Given the description of an element on the screen output the (x, y) to click on. 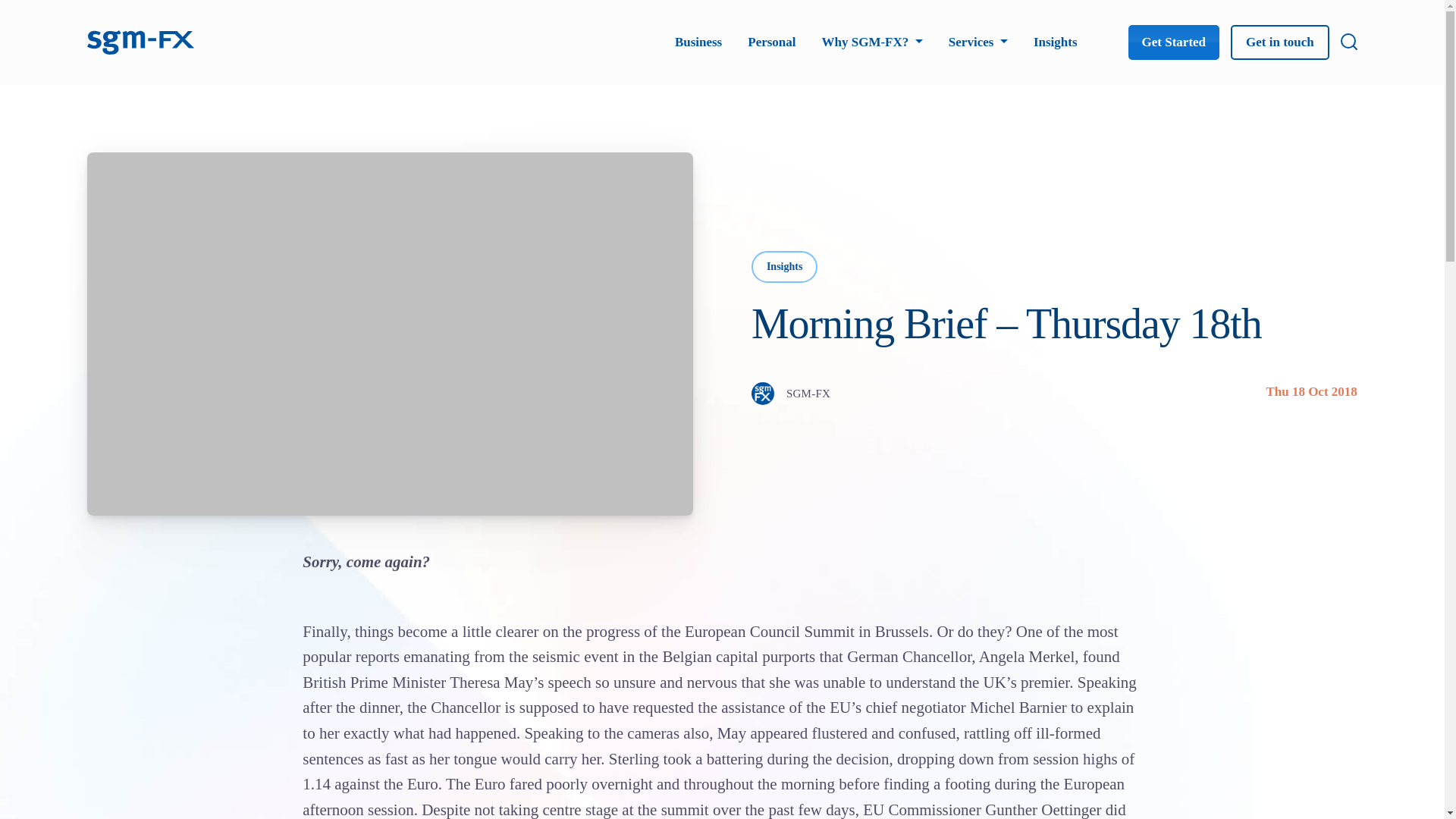
Personal (771, 42)
Personal (771, 42)
Insights (1055, 42)
Why SGM-FX? (872, 42)
Services (978, 42)
Insights (783, 266)
Get Started (1174, 42)
SGM-FX Innovative Foreign Exchange Services (141, 40)
Services (978, 42)
Business (698, 42)
Insights (1055, 42)
Get in touch (1279, 42)
Business (698, 42)
Why SGM-FX? (872, 42)
